Given the description of an element on the screen output the (x, y) to click on. 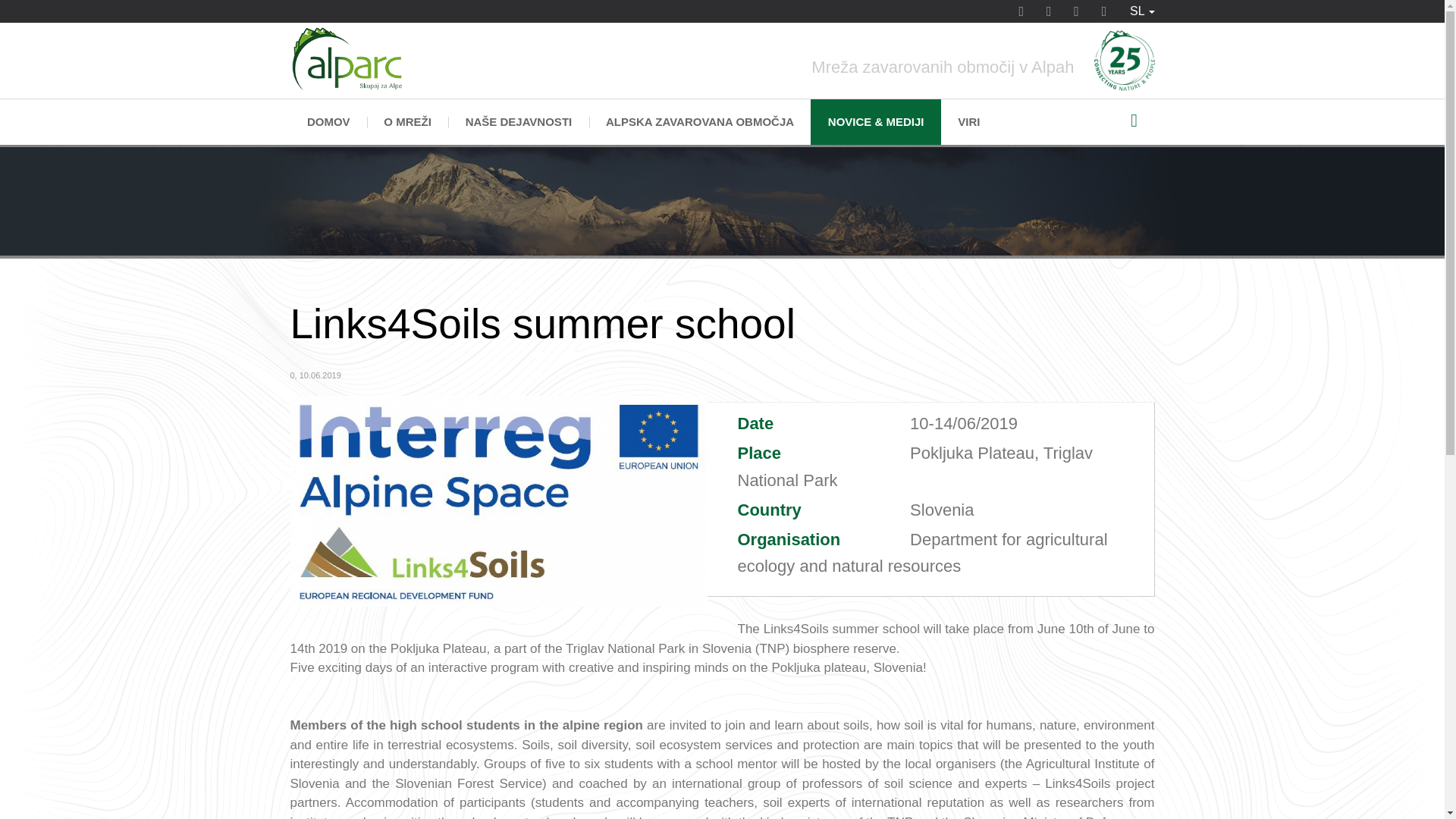
Kliknite za predogled slike (497, 500)
SL (1141, 10)
DOMOV (327, 121)
